Given the description of an element on the screen output the (x, y) to click on. 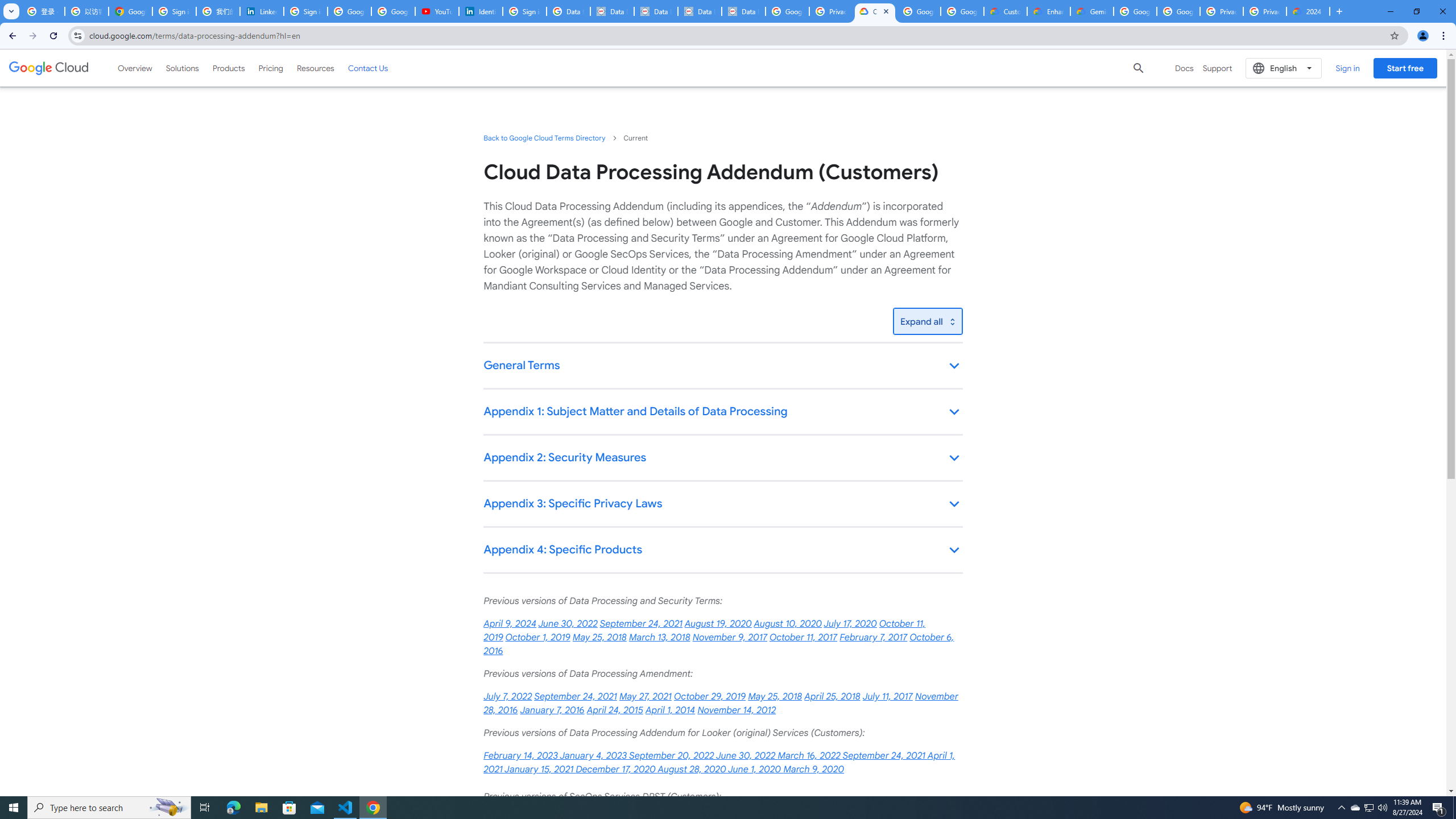
October 29, 2019 (709, 696)
April 24, 2015 (614, 709)
Gemini for Business and Developers | Google Cloud (1091, 11)
October 11, 2019 (704, 630)
